Given the description of an element on the screen output the (x, y) to click on. 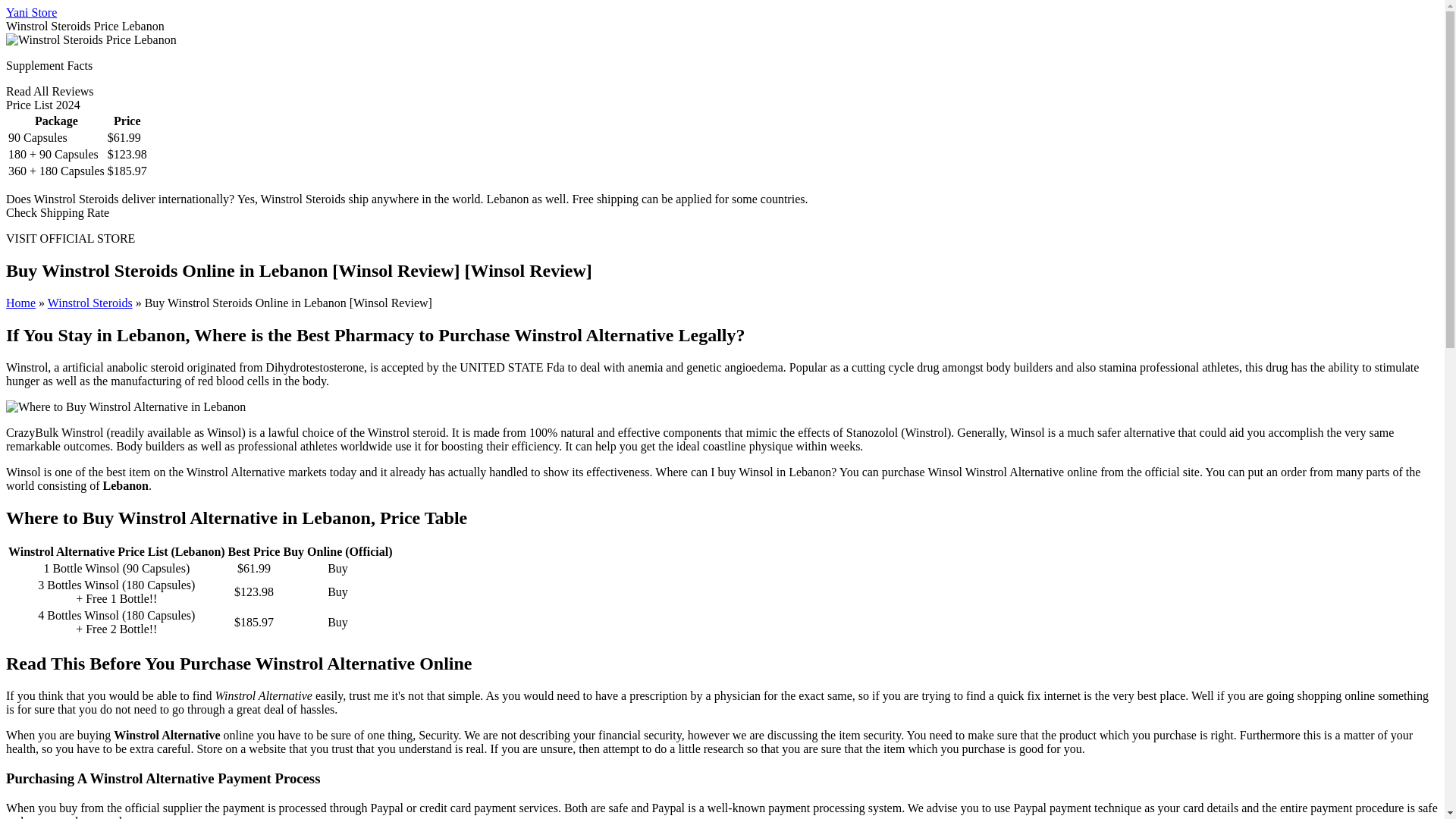
Where to Buy Winstrol Alternative in Lebanon (125, 407)
Winstrol Steroids (90, 302)
Buy Winstrol Steroids Online  (90, 302)
Yani Store (30, 11)
Winstrol Steroids Price Lebanon (90, 39)
Home (19, 302)
Yani Store (30, 11)
